Given the description of an element on the screen output the (x, y) to click on. 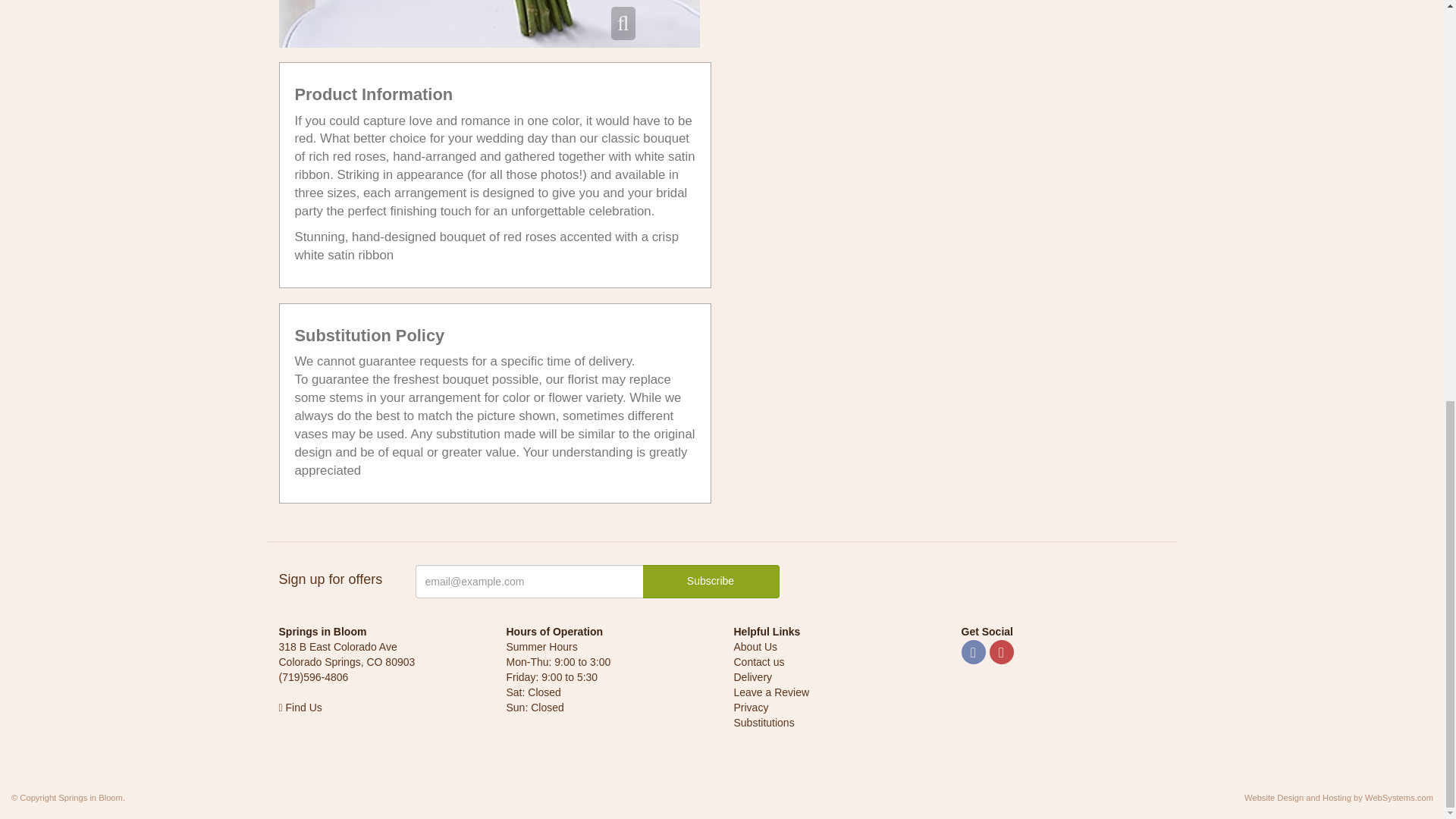
Delivery (753, 676)
Contact us (758, 662)
Subscribe (710, 581)
Privacy (750, 707)
About Us (755, 646)
Substitutions (763, 722)
Website Design and Hosting by WebSystems.com (1338, 797)
Find Us (300, 707)
Leave a Review (771, 692)
Subscribe (710, 581)
